Given the description of an element on the screen output the (x, y) to click on. 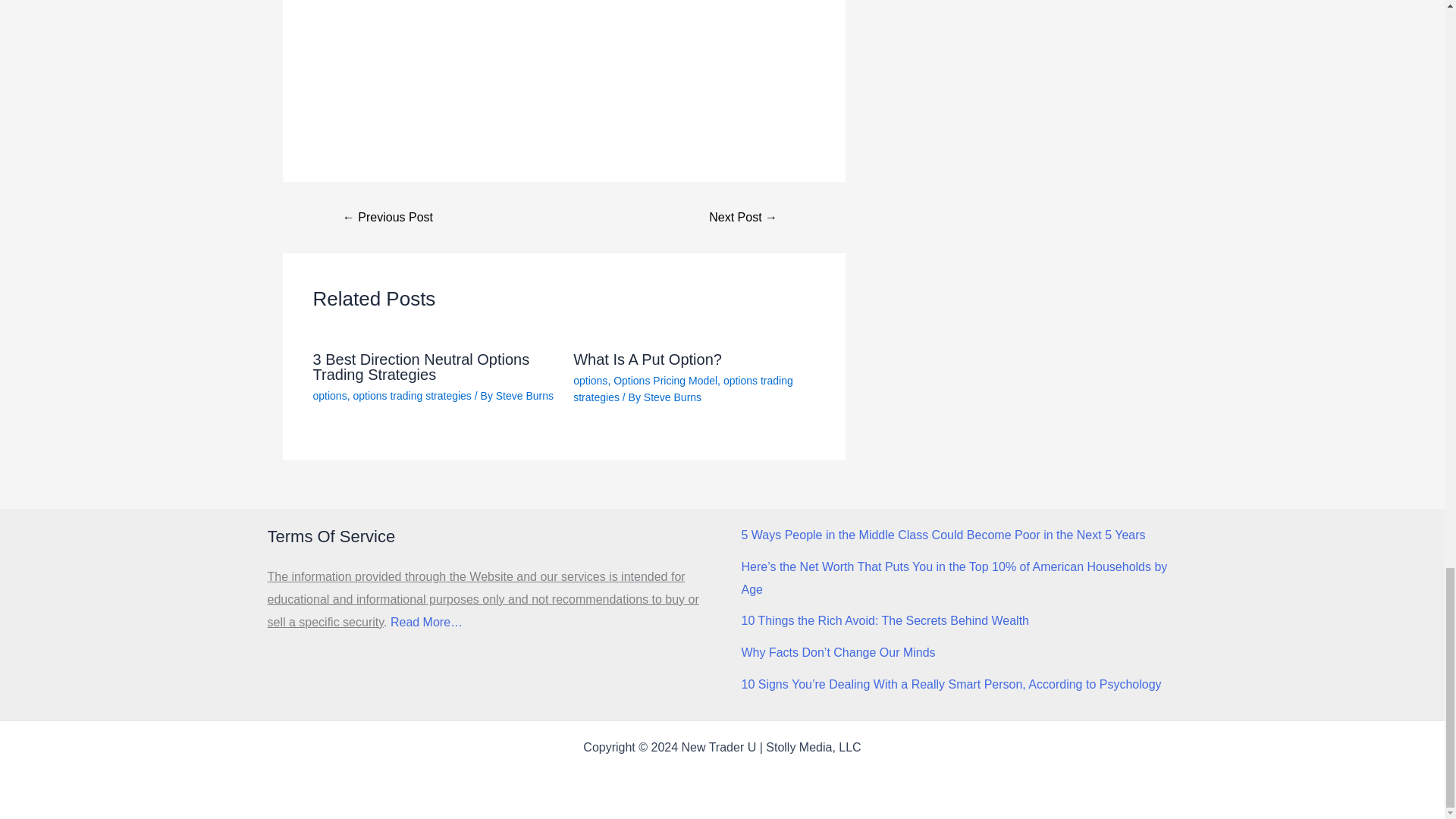
Buy to Open vs Buy to Close (742, 217)
Sell to Open vs Sell to Close 4 (457, 32)
View all posts by Steve Burns (524, 395)
Rounding Top (387, 217)
View all posts by Steve Burns (672, 397)
